Given the description of an element on the screen output the (x, y) to click on. 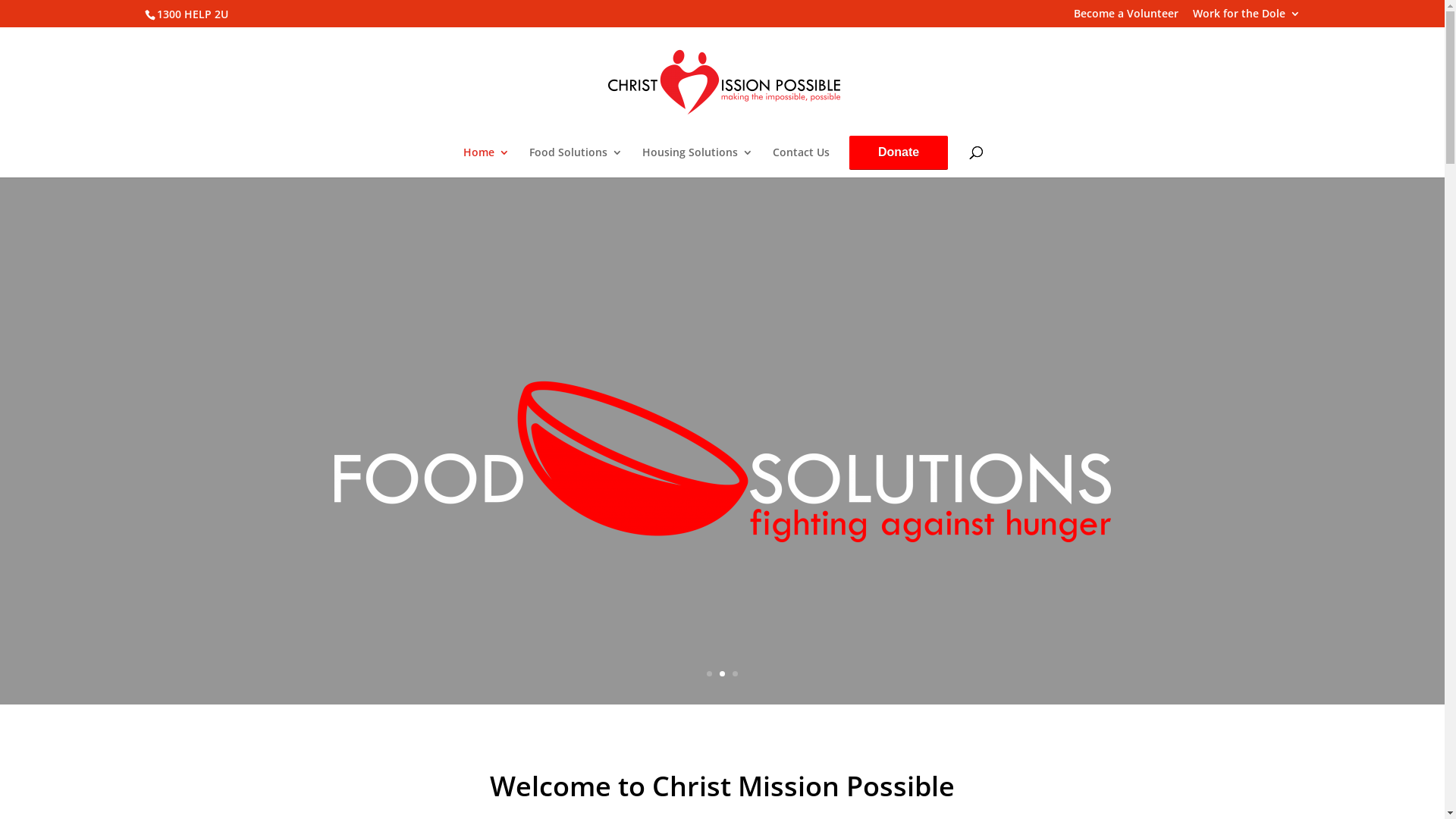
Become a Volunteer Element type: text (1125, 16)
3 Element type: text (734, 673)
Work for the Dole Element type: text (1245, 16)
Contact Us Element type: text (800, 162)
Food Solutions Element type: text (575, 162)
2 Element type: text (721, 673)
Housing Solutions Element type: text (697, 162)
Home Element type: text (486, 162)
Donate Element type: text (898, 152)
1 Element type: text (709, 673)
